Given the description of an element on the screen output the (x, y) to click on. 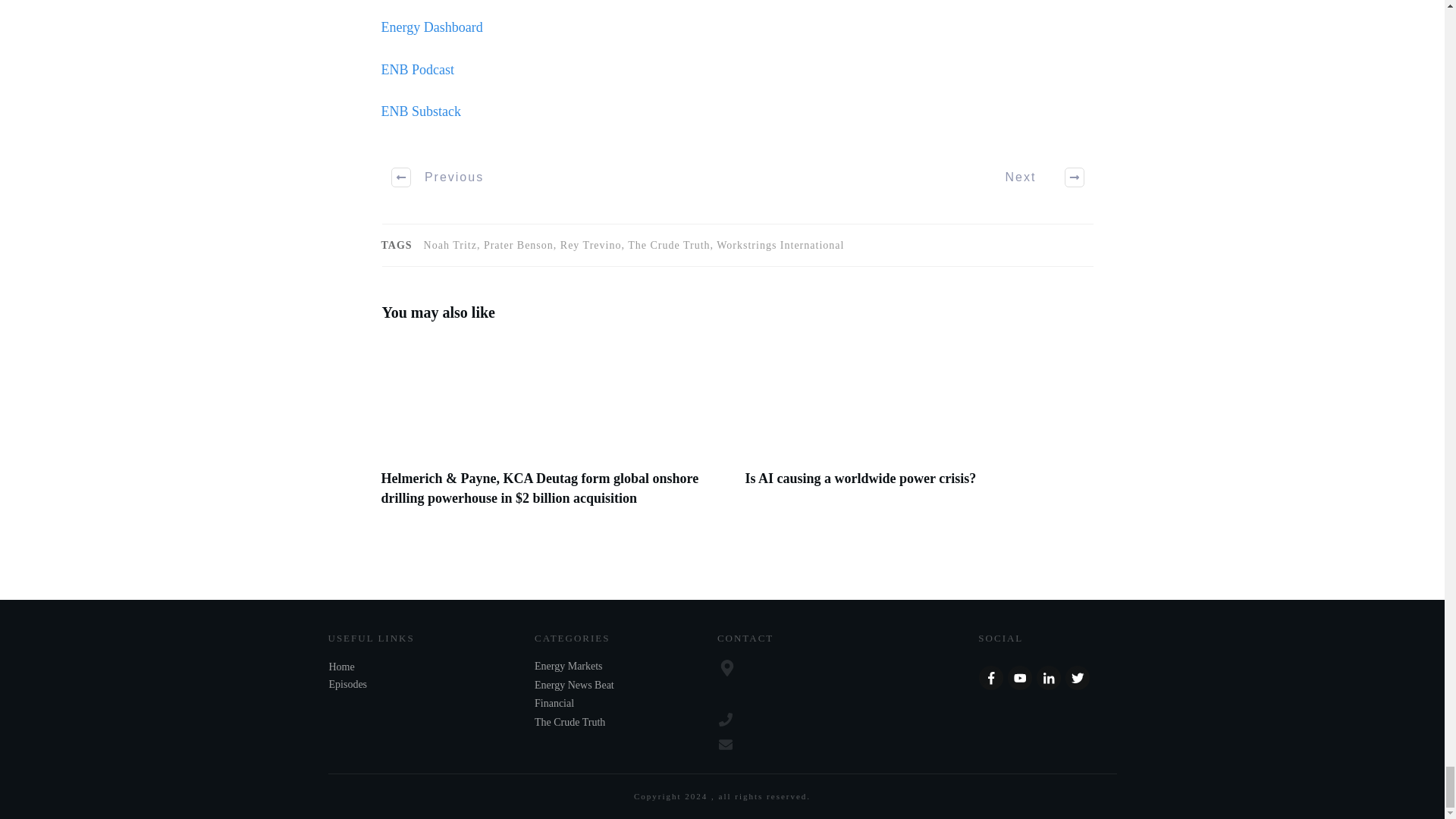
Next (1036, 177)
ENB Podcast (417, 69)
ENB Substack (420, 111)
Previous (438, 177)
Energy Dashboard (430, 27)
Is AI causing a worldwide power crisis? (859, 478)
